Given the description of an element on the screen output the (x, y) to click on. 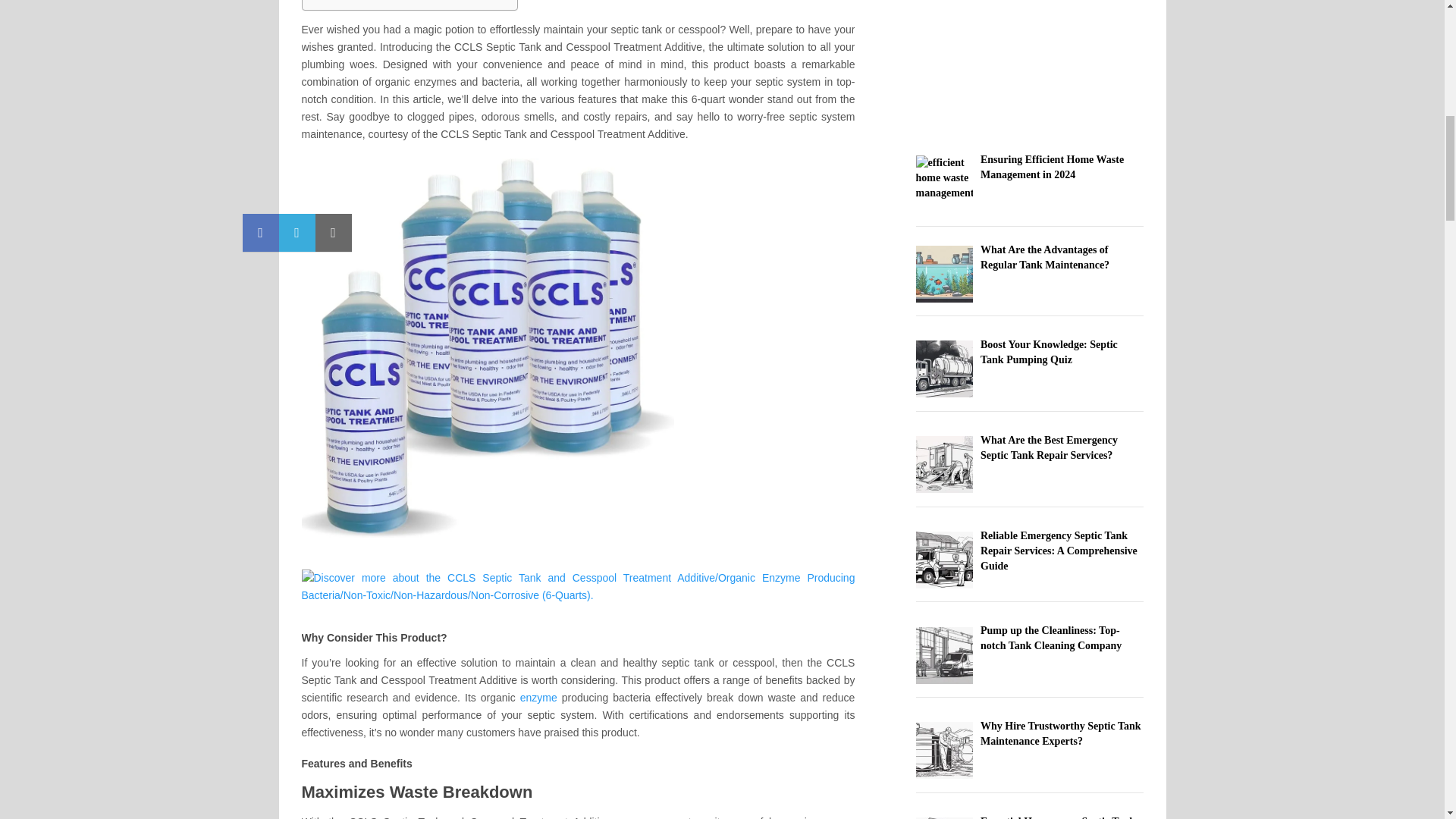
Final Recommendation (381, 0)
enzyme (538, 697)
enzyme (835, 817)
